Given the description of an element on the screen output the (x, y) to click on. 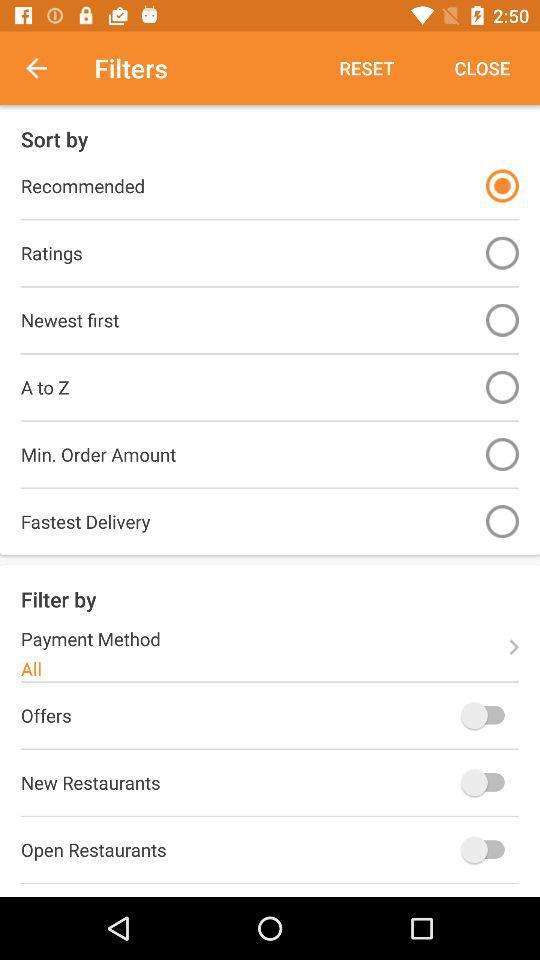
turn off the item next to recommended icon (502, 185)
